Given the description of an element on the screen output the (x, y) to click on. 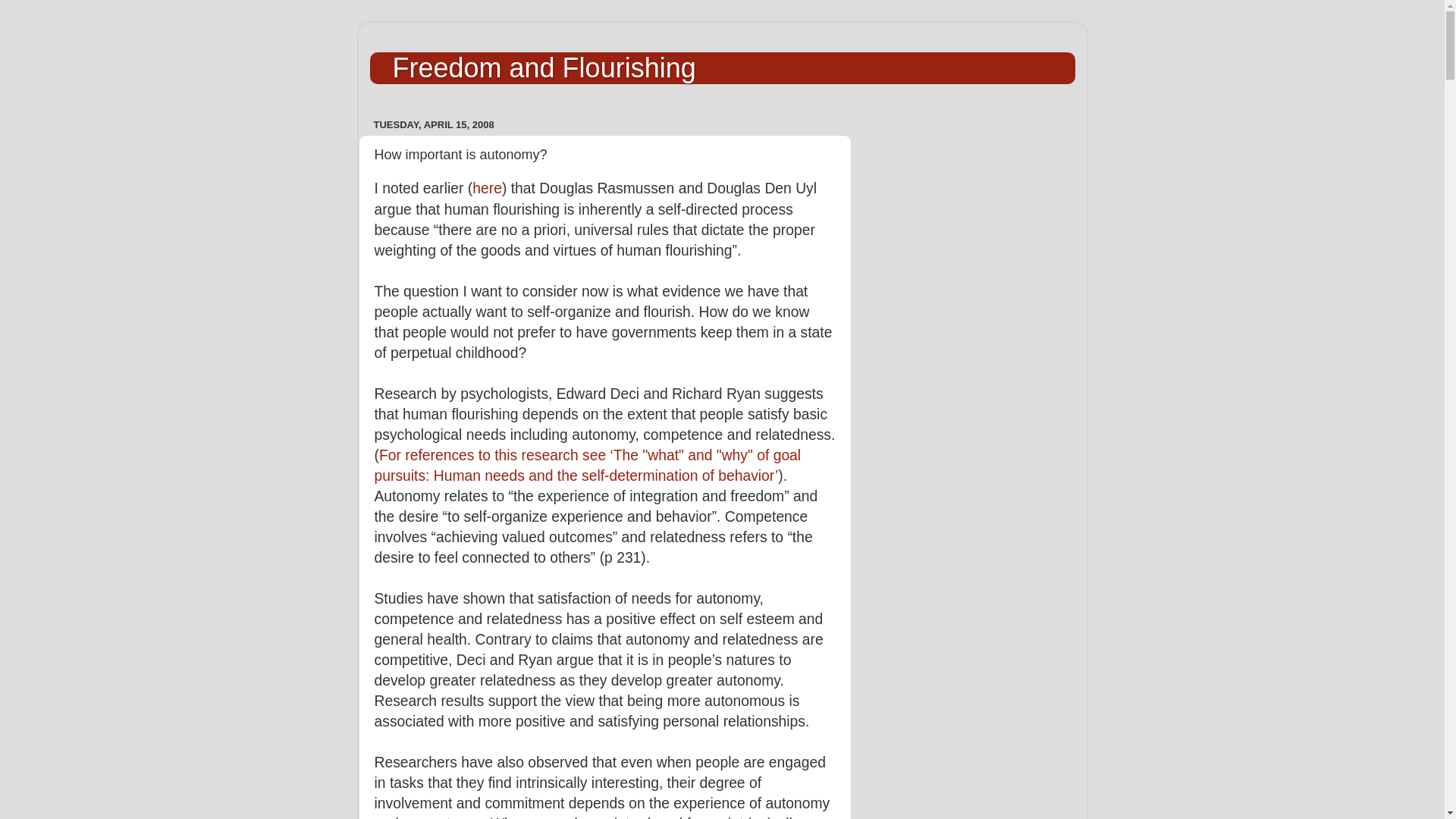
Freedom and Flourishing (544, 67)
here (486, 188)
